Given the description of an element on the screen output the (x, y) to click on. 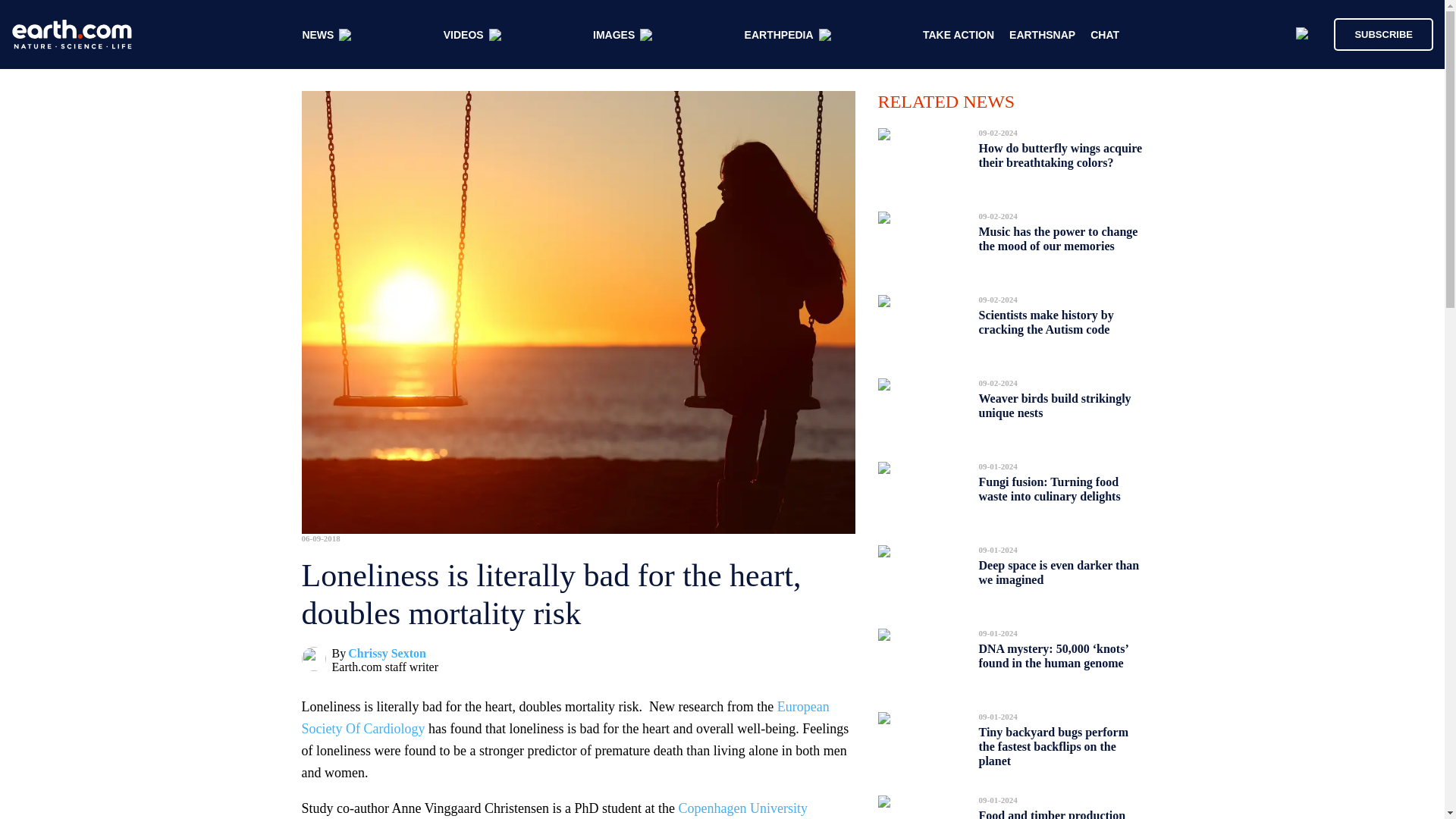
How do butterfly wings acquire their breathtaking colors? (1059, 155)
European Society Of Cardiology (565, 717)
Music has the power to change the mood of our memories (1057, 238)
EARTHSNAP (1042, 34)
Weaver birds build strikingly unique nests (1054, 405)
Deep space is even darker than we imagined (1058, 572)
SUBSCRIBE (1382, 34)
TAKE ACTION (958, 34)
Fungi fusion: Turning food waste into culinary delights (1048, 488)
CHAT (1104, 34)
